Given the description of an element on the screen output the (x, y) to click on. 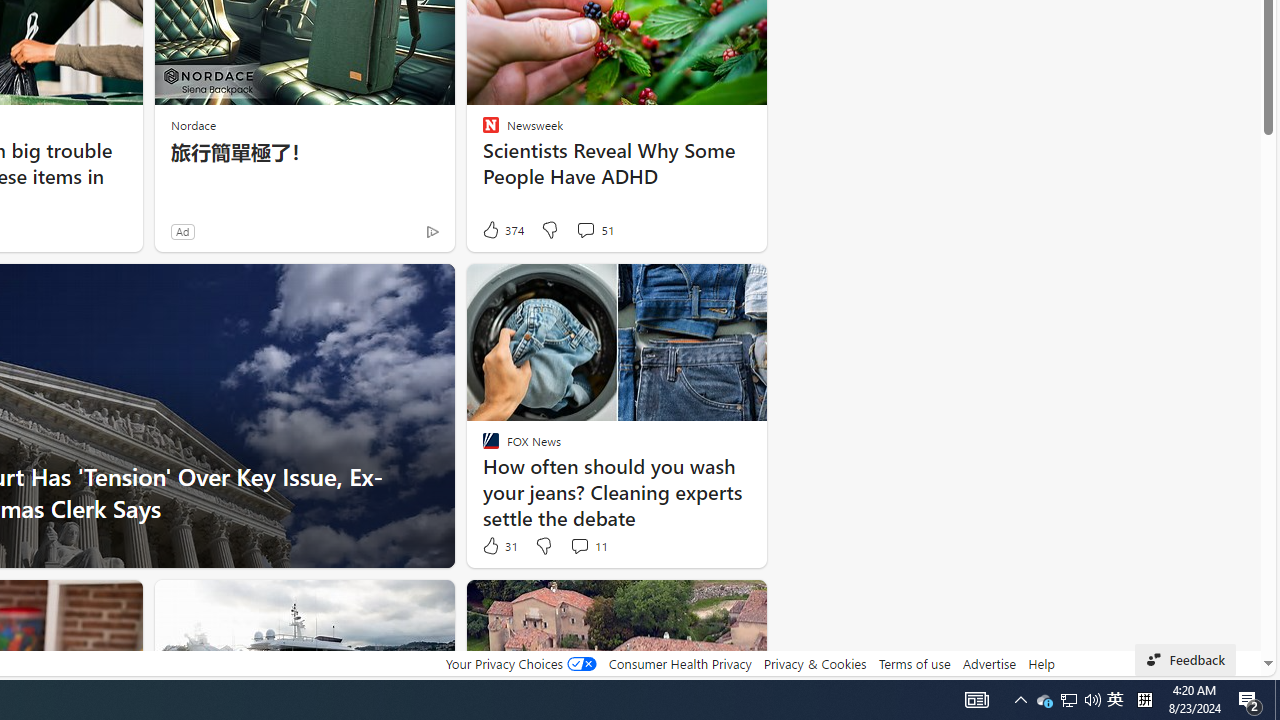
View comments 11 Comment (579, 545)
31 Like (499, 546)
374 Like (502, 230)
